Given the description of an element on the screen output the (x, y) to click on. 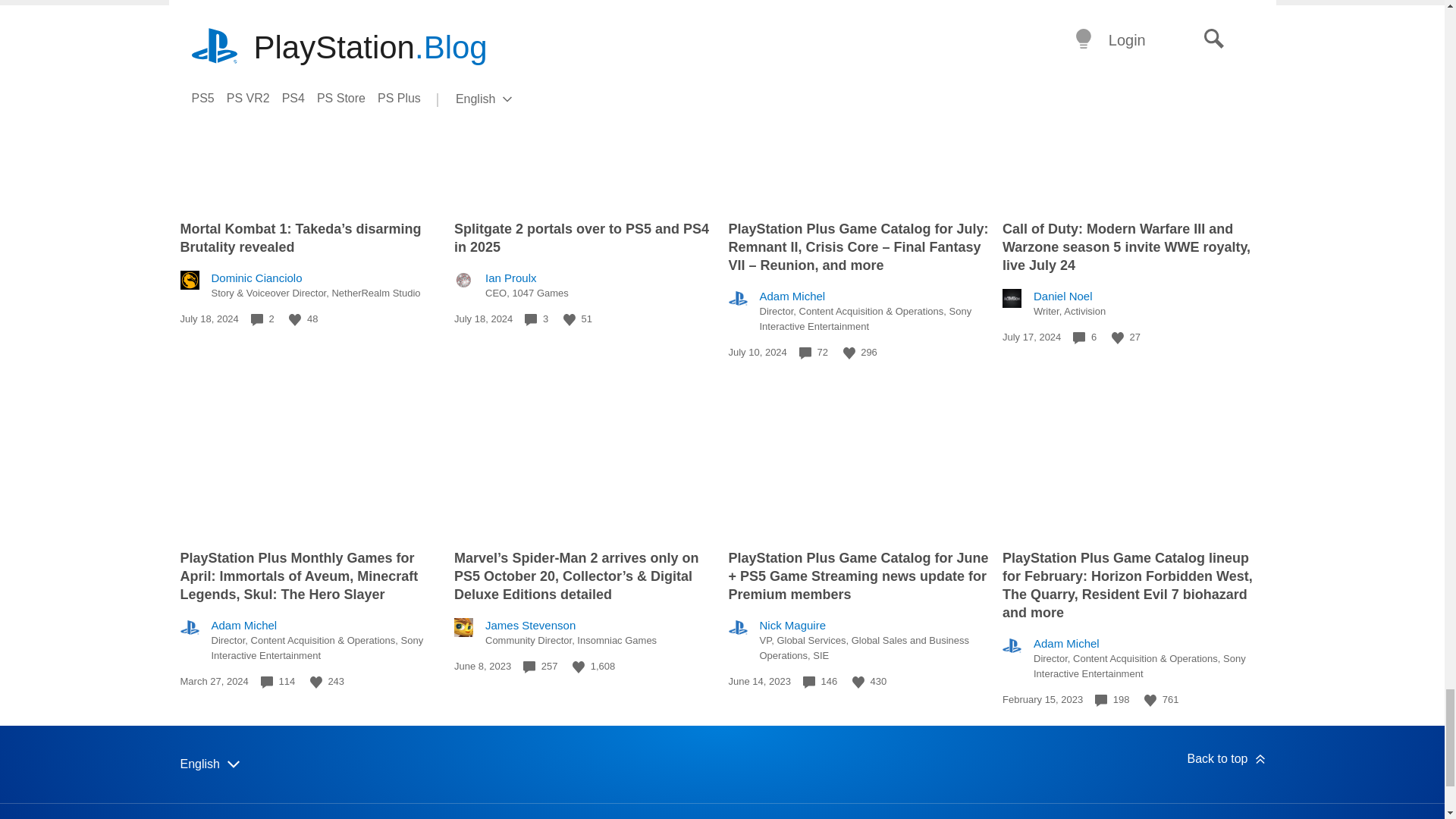
Like this (1118, 337)
Like this (569, 319)
Like this (294, 319)
Like this (849, 353)
